Given the description of an element on the screen output the (x, y) to click on. 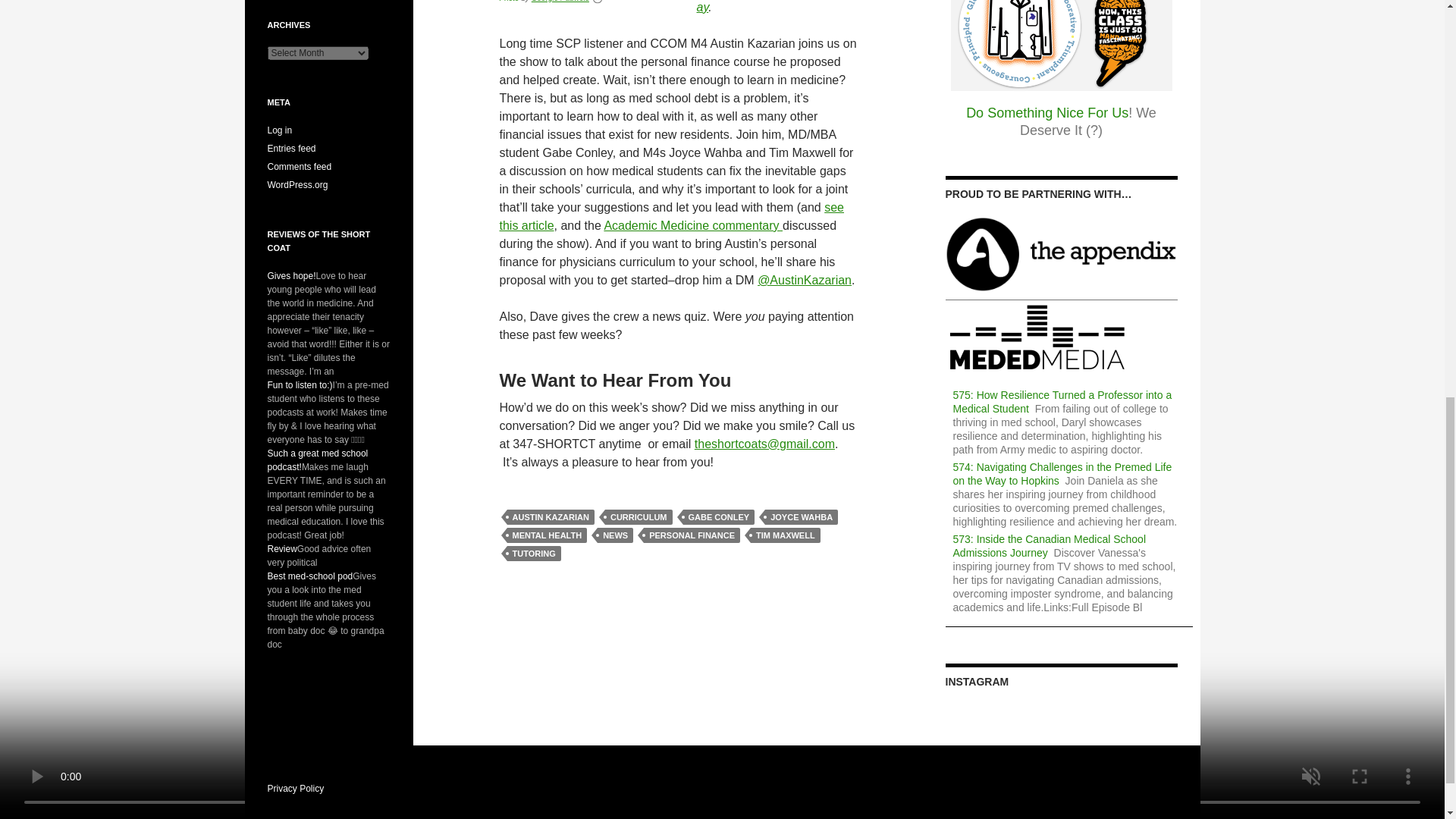
Academic Medicine commentary (693, 225)
CURRICULUM (638, 516)
Image inserted by the ImageInject WordPress plugin (508, 1)
see this article (671, 215)
Georgie Pauwels (560, 1)
GABE CONLEY (718, 516)
AUSTIN KAZARIAN (550, 516)
Photo (508, 1)
